Given the description of an element on the screen output the (x, y) to click on. 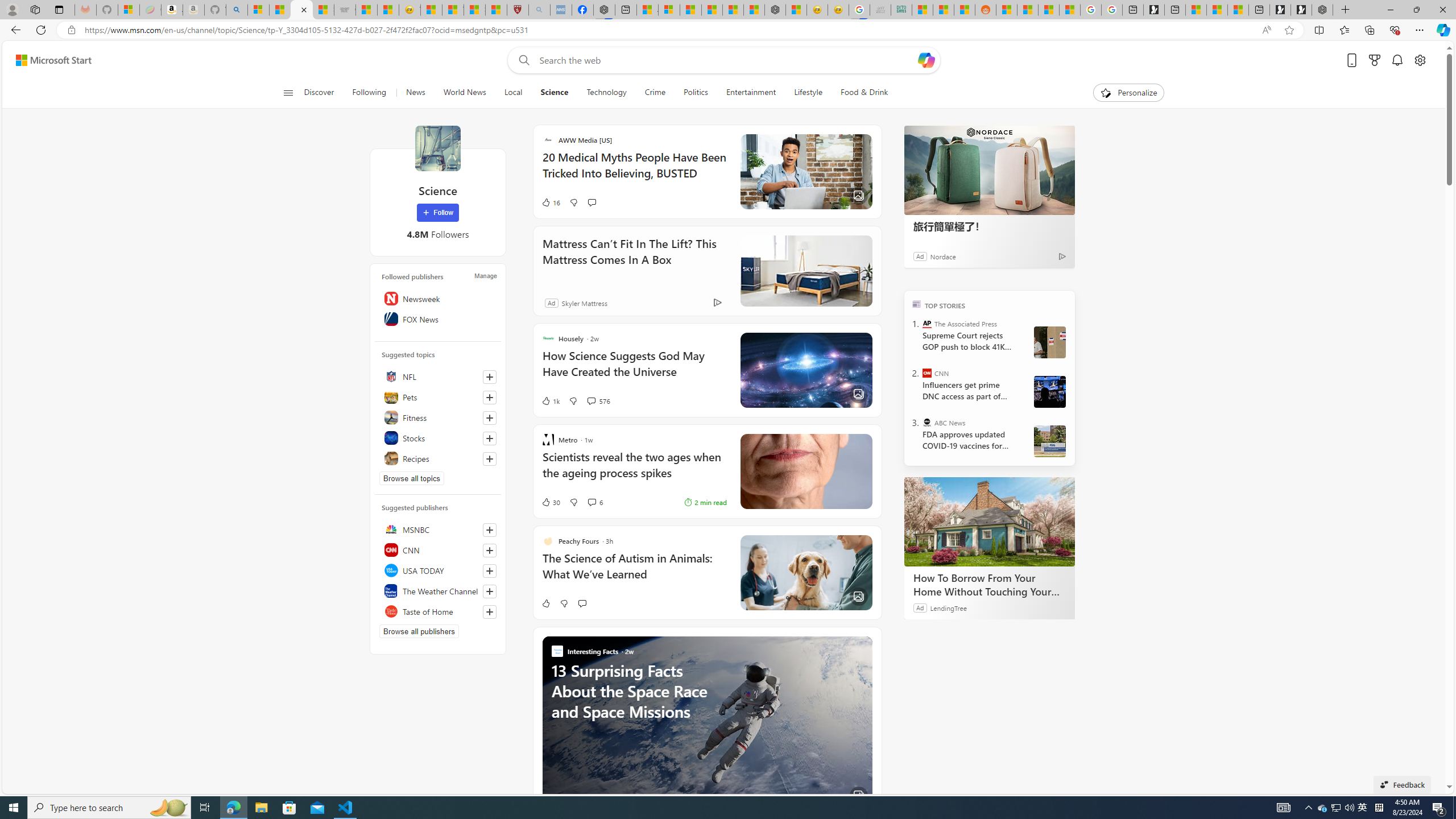
Taste of Home (437, 610)
